Given the description of an element on the screen output the (x, y) to click on. 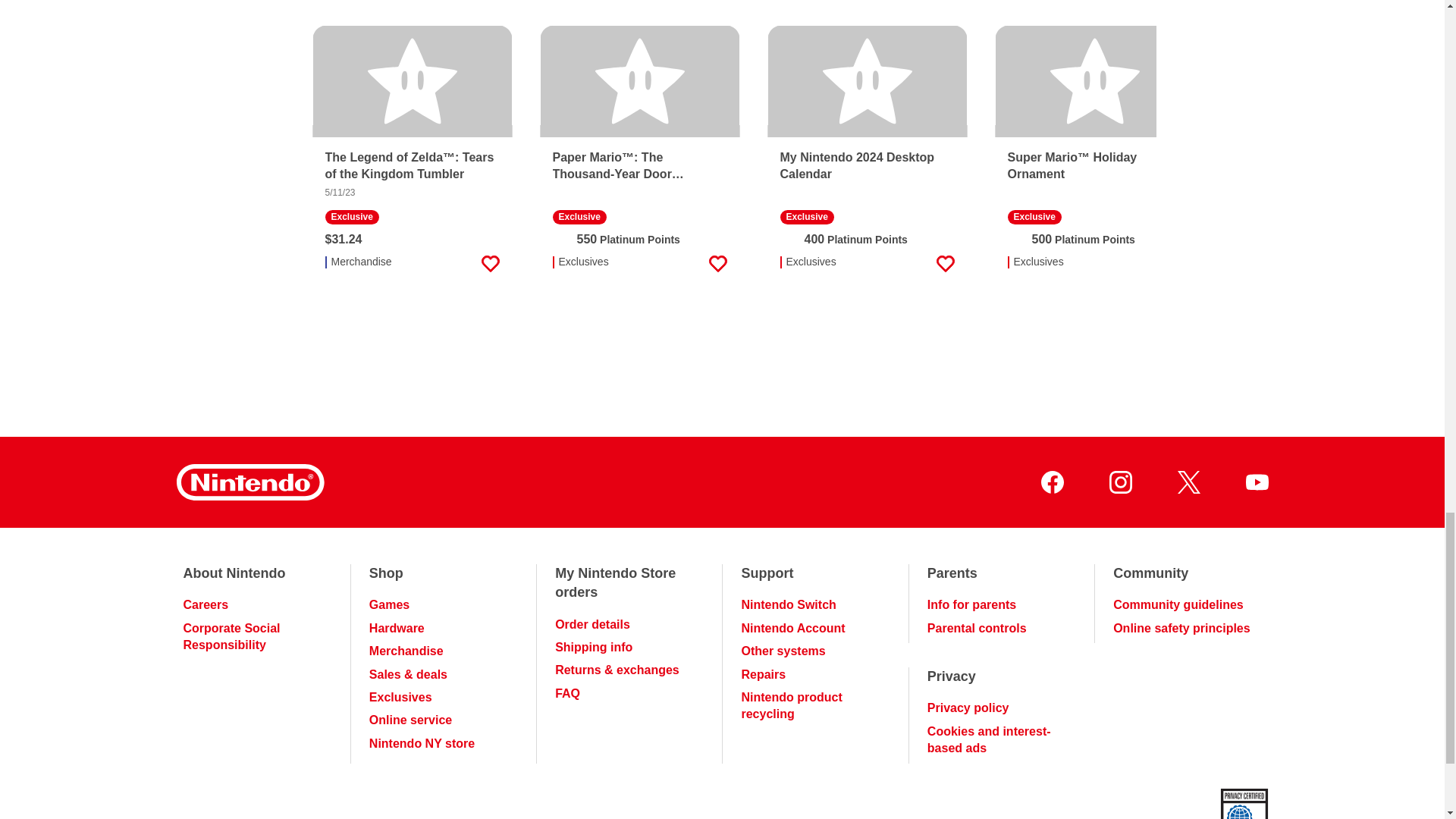
Add to Wish List (1172, 263)
Add to Wish List (944, 263)
Add to Wish List (716, 263)
Add to Wish List (489, 263)
